Given the description of an element on the screen output the (x, y) to click on. 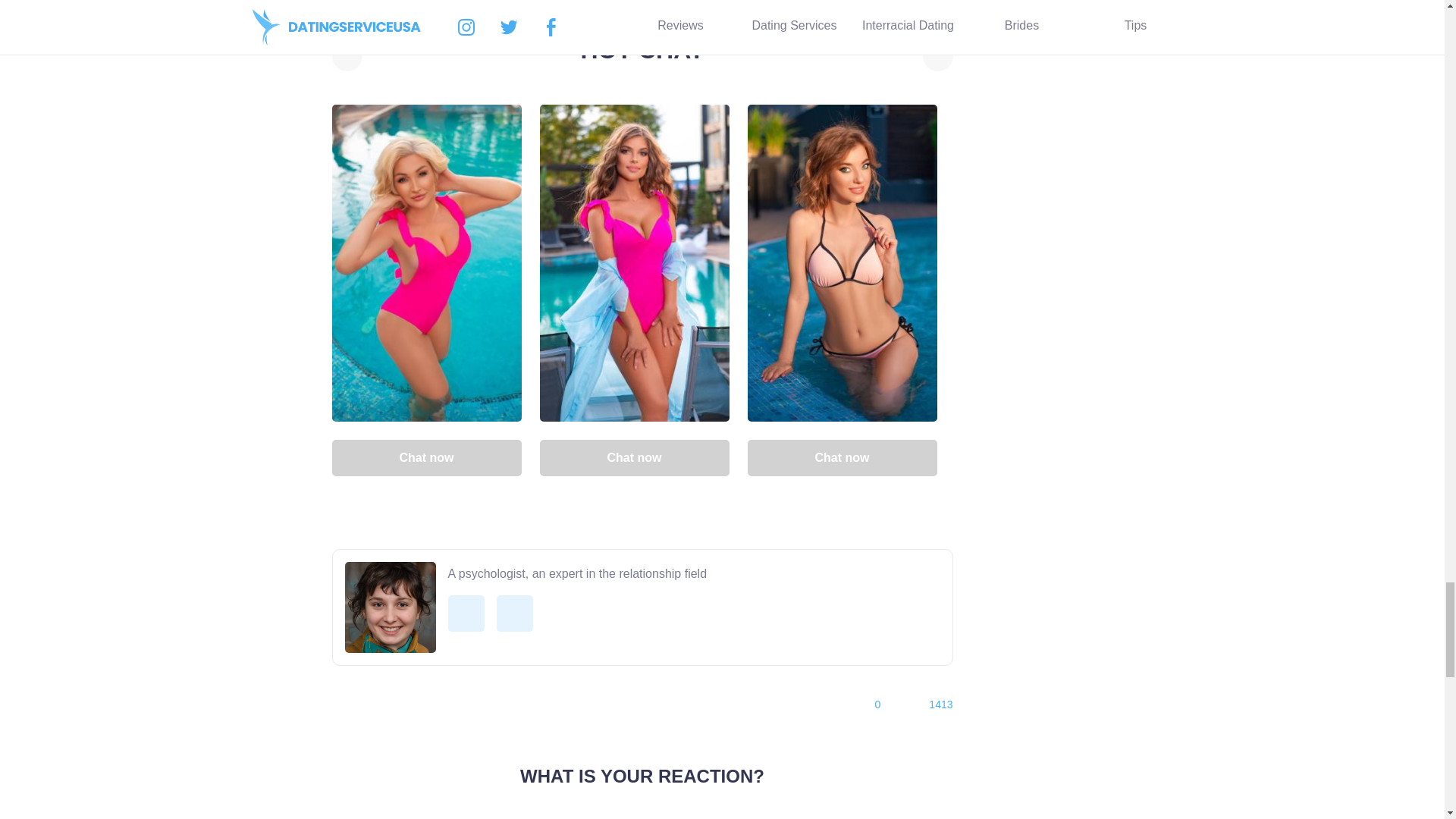
Chat now (634, 457)
Chat now (426, 457)
Profile in Quora (464, 613)
Chat now (842, 457)
Profile in Linkedin (514, 613)
